Given the description of an element on the screen output the (x, y) to click on. 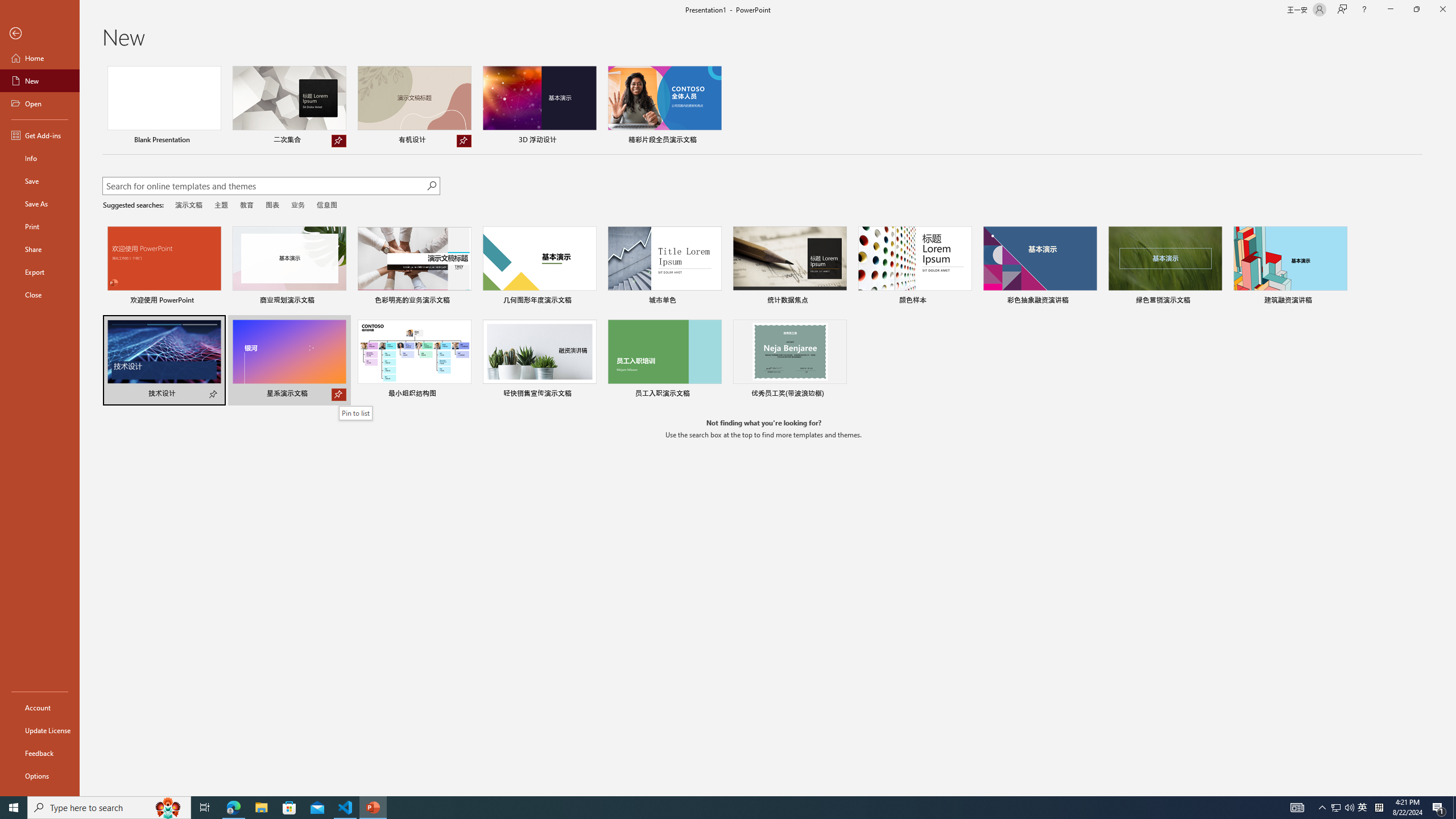
Get Add-ins (40, 134)
Search for online templates and themes (264, 187)
Class: NetUIScrollBar (1450, 428)
Blank Presentation (164, 106)
Back (40, 33)
Feedback (40, 753)
